Given the description of an element on the screen output the (x, y) to click on. 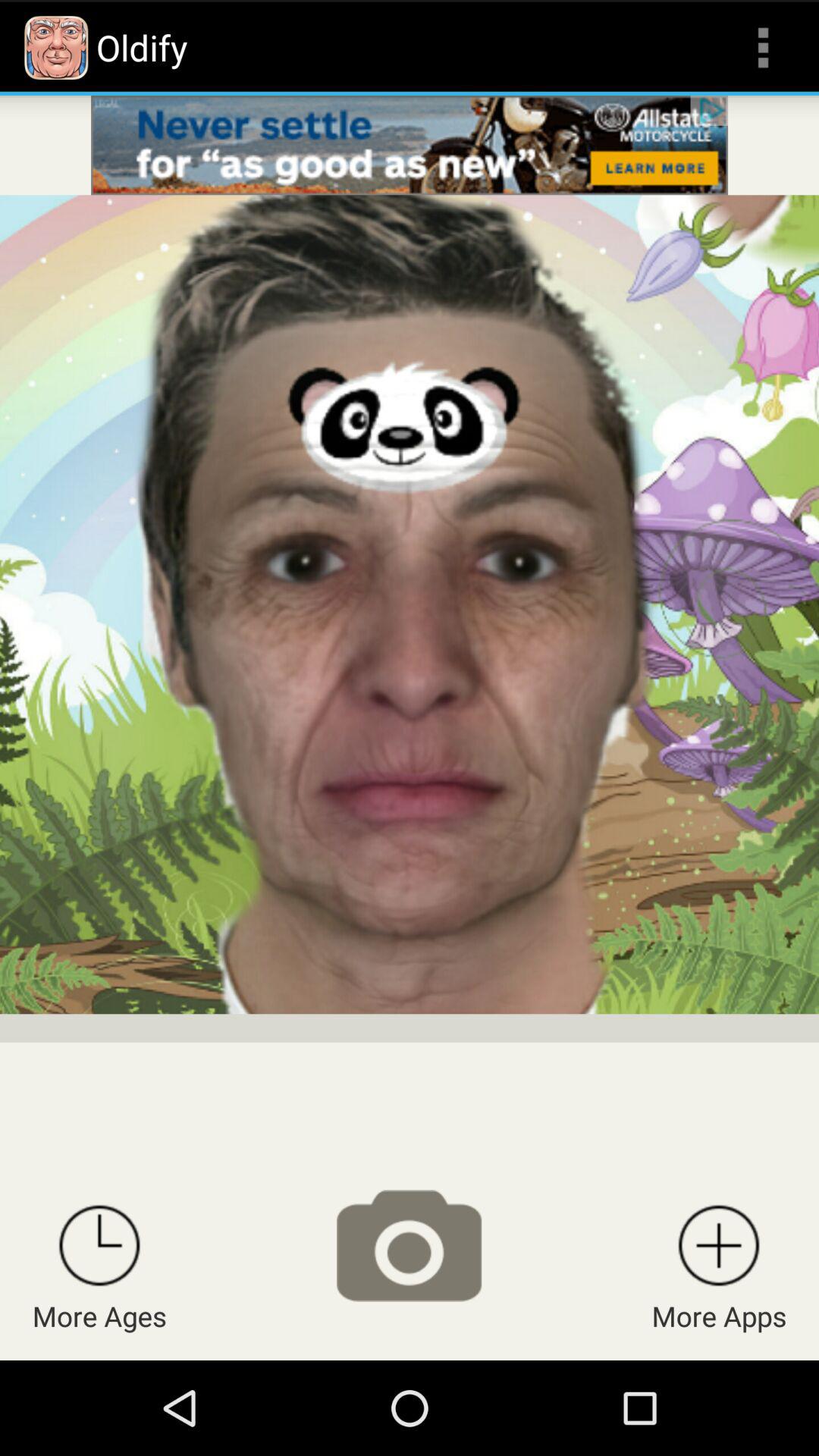
take a photo (408, 1245)
